Given the description of an element on the screen output the (x, y) to click on. 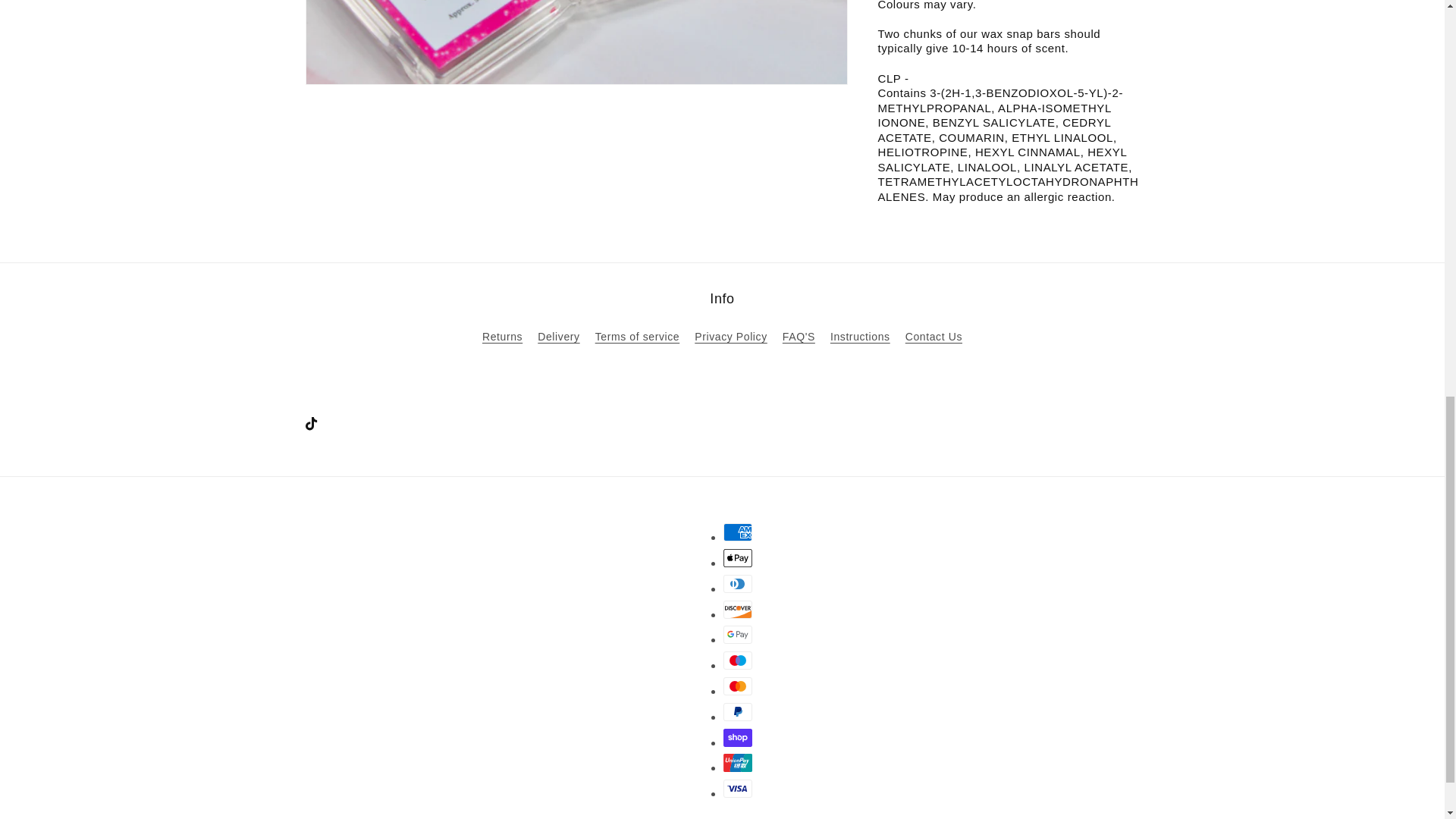
Discover (737, 609)
Mastercard (737, 686)
Google Pay (737, 634)
Apple Pay (737, 557)
Diners Club (737, 583)
Maestro (737, 660)
American Express (737, 532)
